Given the description of an element on the screen output the (x, y) to click on. 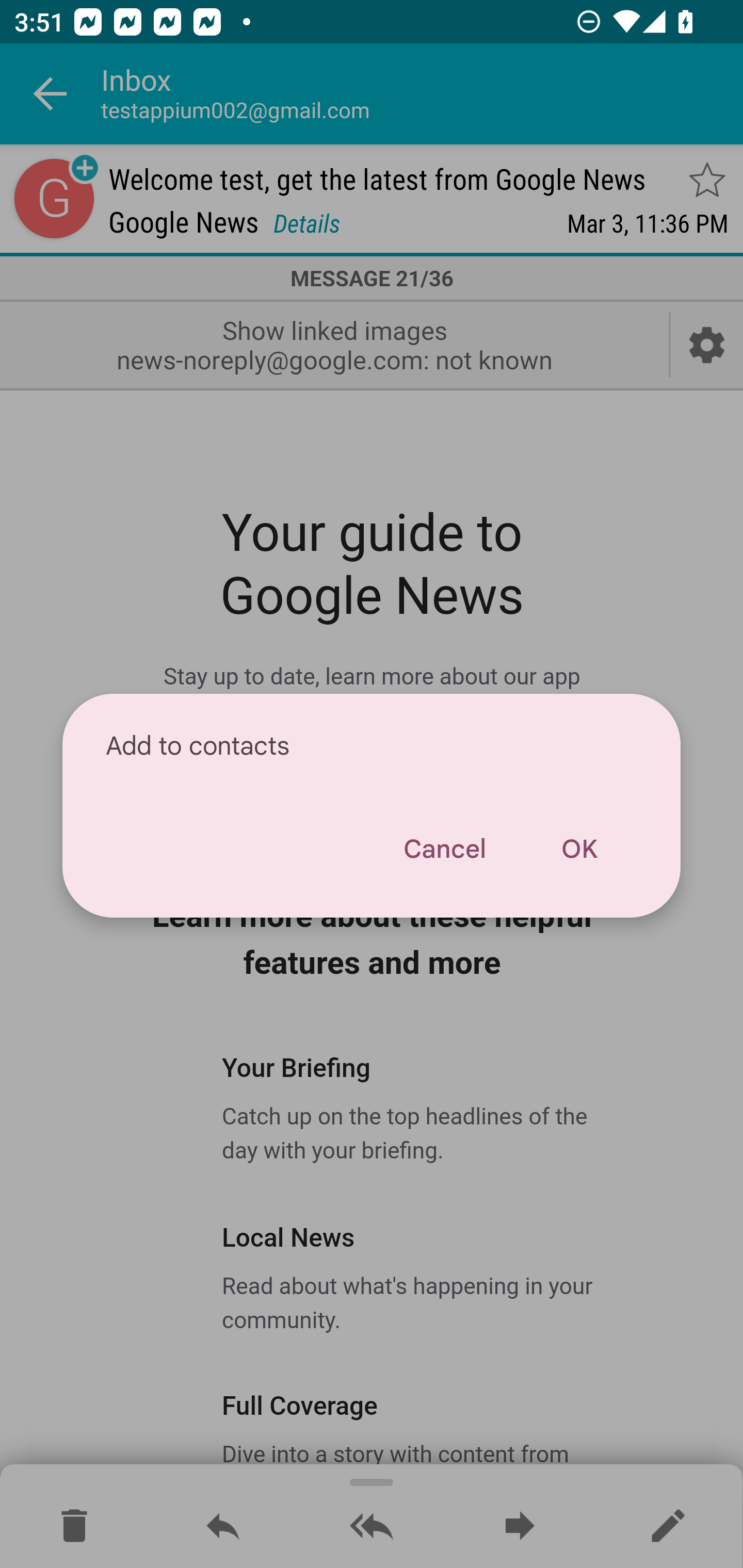
Cancel (444, 848)
OK (579, 848)
